Given the description of an element on the screen output the (x, y) to click on. 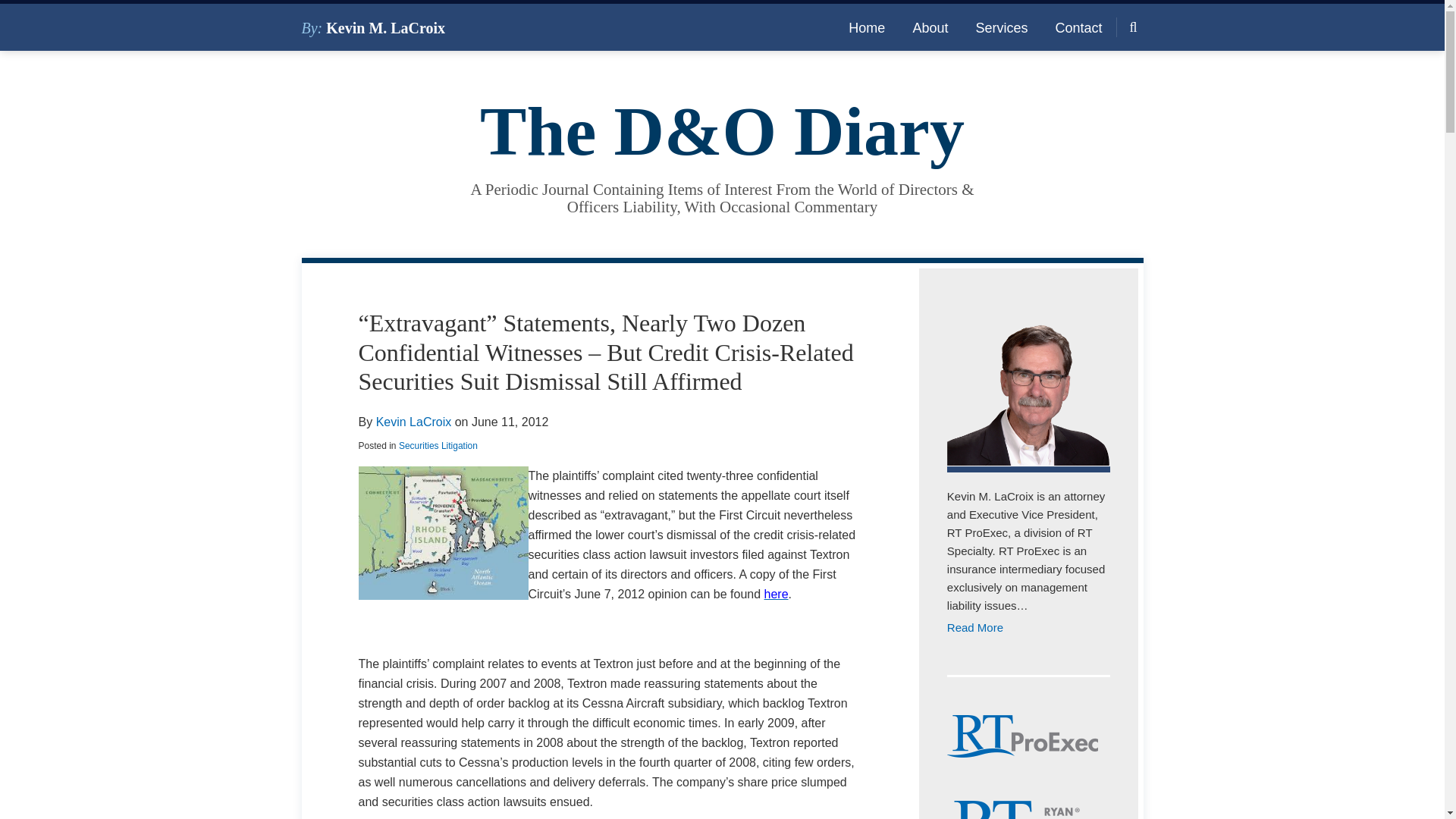
Securities Litigation (437, 445)
Kevin M. LaCroix (385, 27)
Kevin LaCroix (413, 421)
Home (866, 27)
About (929, 27)
here (776, 594)
Services (1001, 27)
Contact (1078, 27)
